Given the description of an element on the screen output the (x, y) to click on. 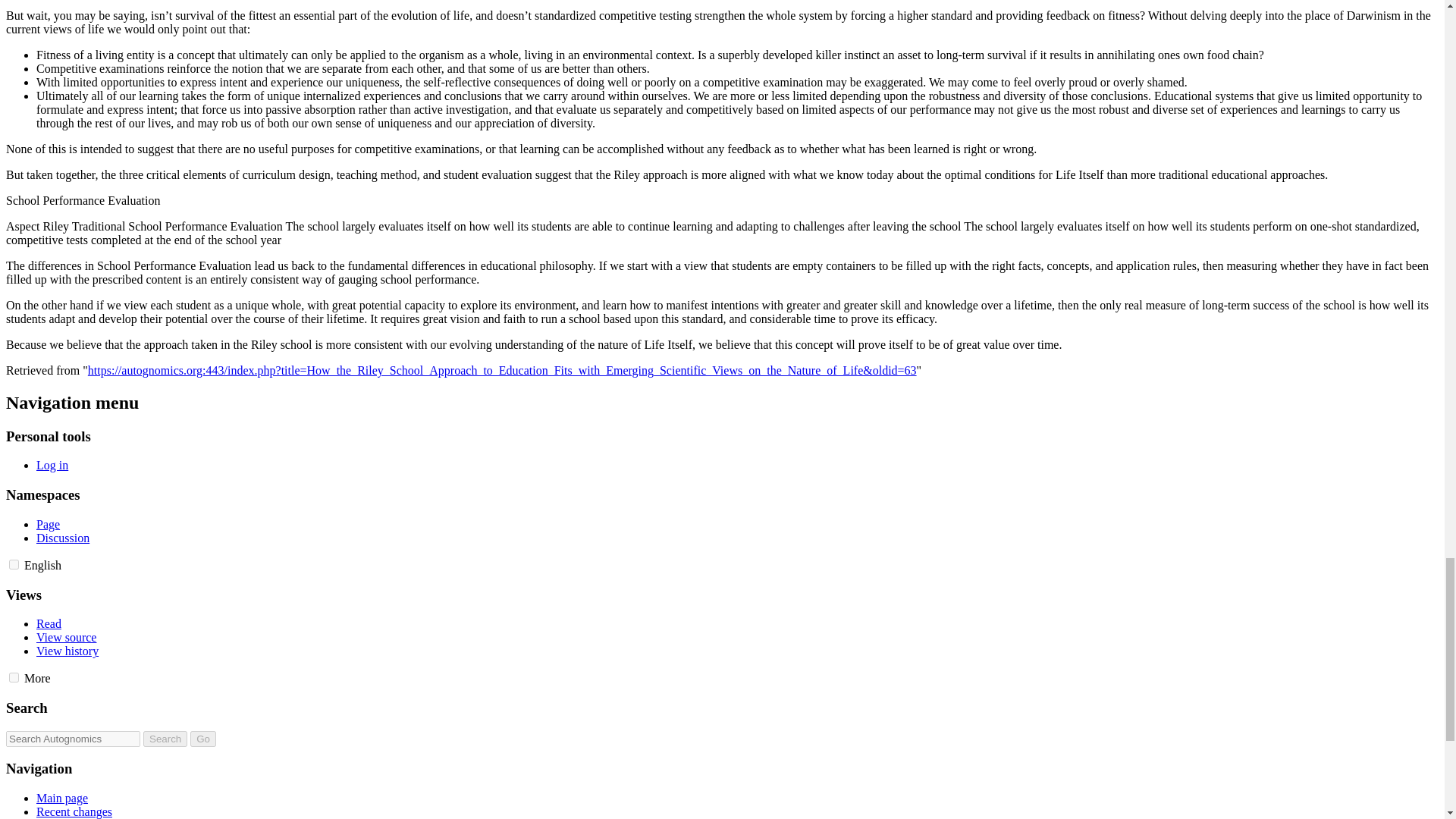
Main page (61, 797)
on (13, 564)
on (13, 677)
Read (48, 623)
Go (202, 738)
Go (202, 738)
View source (66, 636)
Search the pages for this text (164, 738)
Recent changes (74, 811)
Go to a page with this exact name if it exists (202, 738)
